Given the description of an element on the screen output the (x, y) to click on. 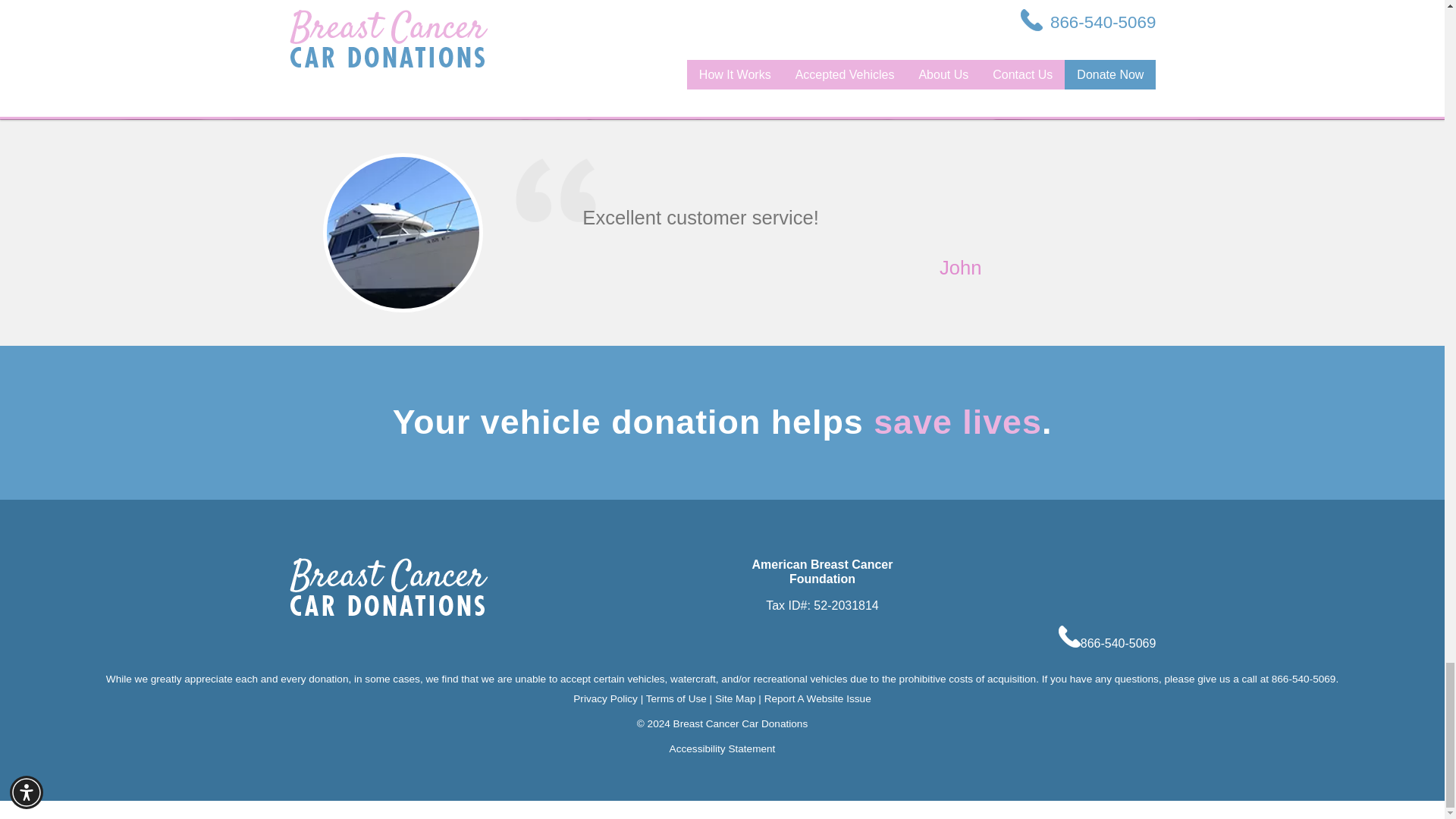
Customer reviews powered by Trustpilot (852, 9)
